Given the description of an element on the screen output the (x, y) to click on. 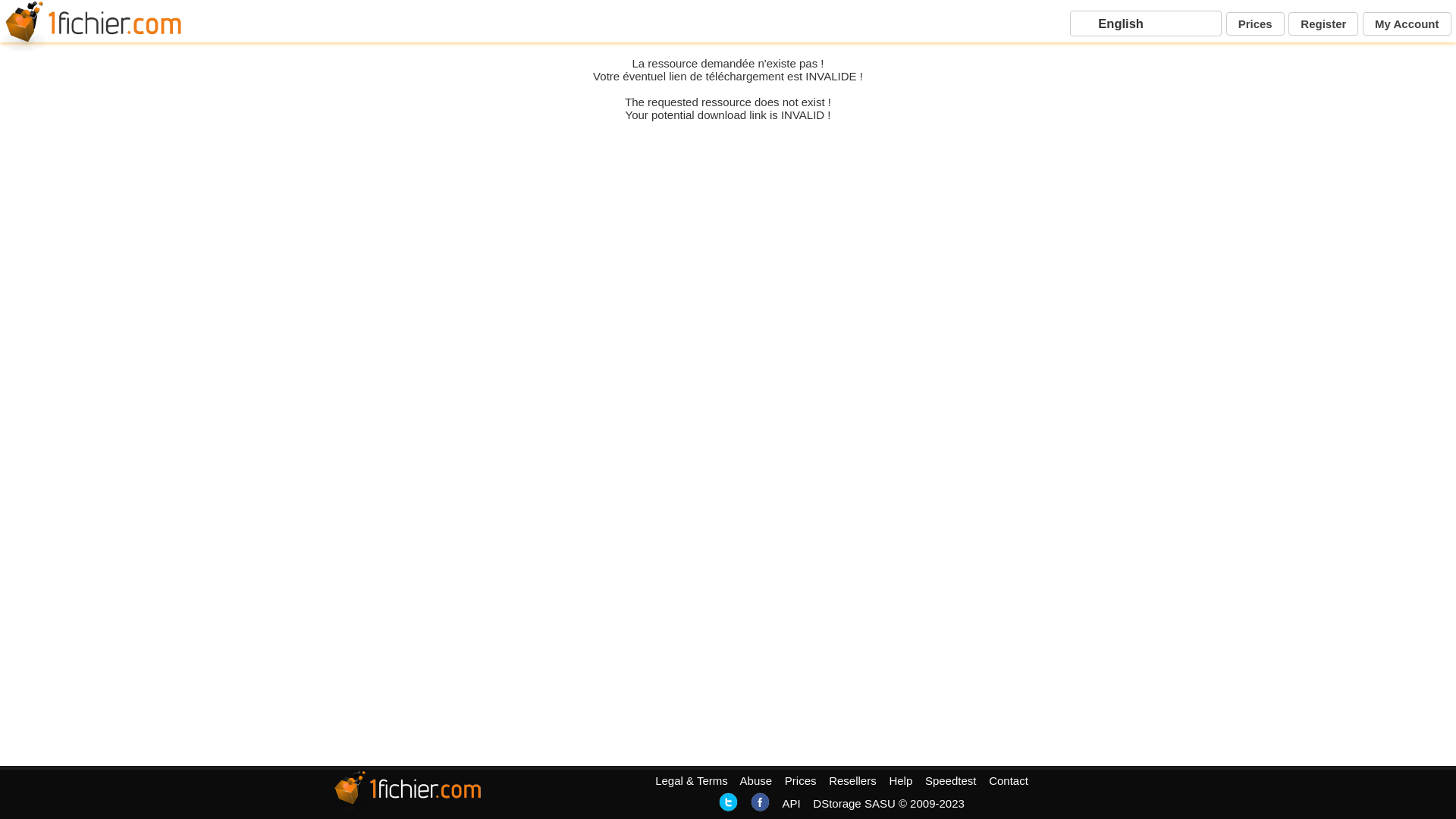
Register Element type: text (1323, 23)
Prices Element type: text (1255, 23)
Resellers Element type: text (852, 780)
Legal & Terms Element type: text (691, 780)
Speedtest Element type: text (950, 780)
My Account Element type: text (1406, 23)
Help Element type: text (900, 780)
Contact Element type: text (1008, 780)
API Element type: text (790, 803)
Prices Element type: text (800, 780)
Abuse Element type: text (756, 780)
